Given the description of an element on the screen output the (x, y) to click on. 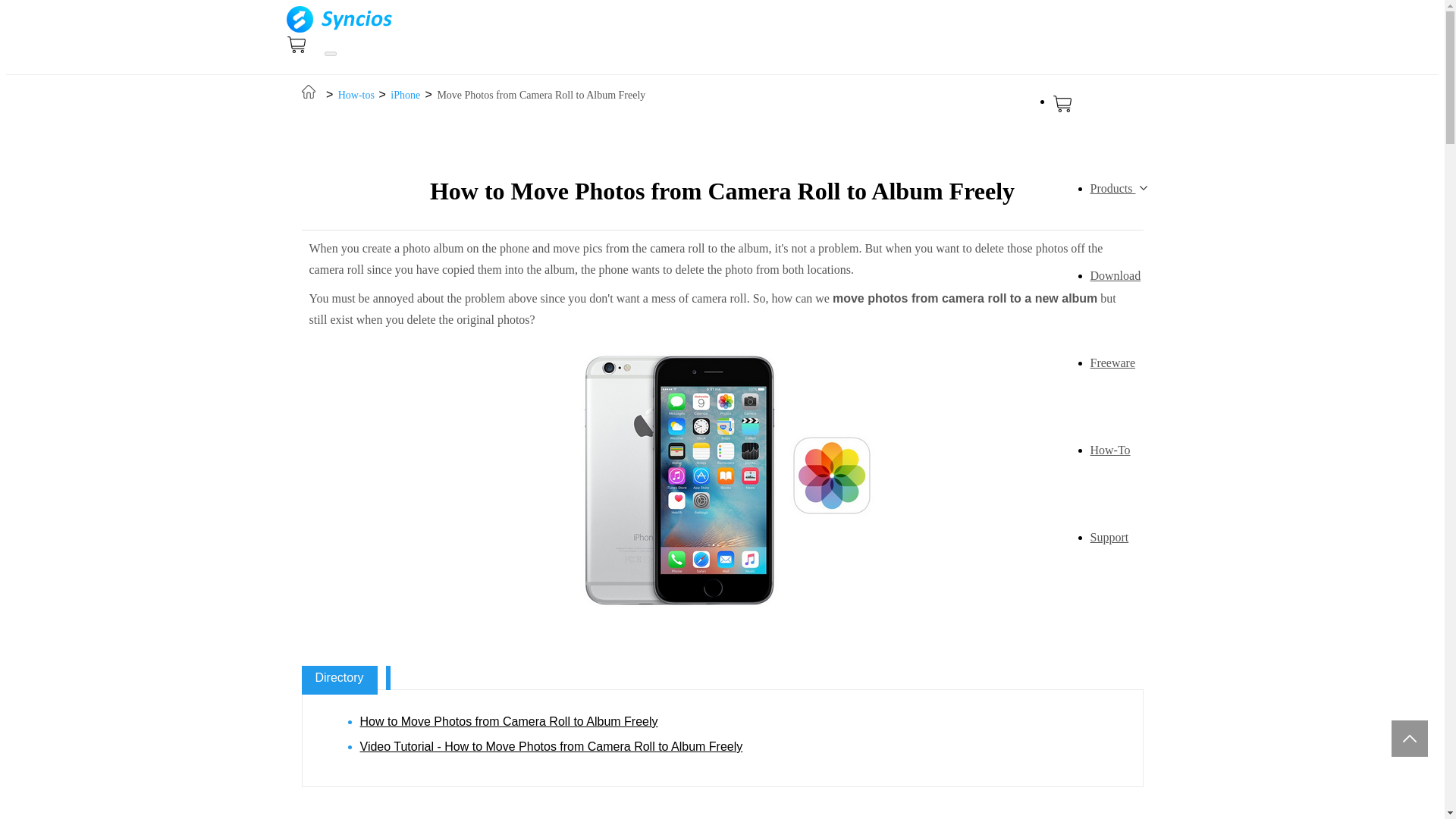
How-To (1110, 449)
How-tos (357, 94)
Products (1120, 187)
Support (1109, 536)
Freeware (1112, 362)
Download (1115, 275)
